Given the description of an element on the screen output the (x, y) to click on. 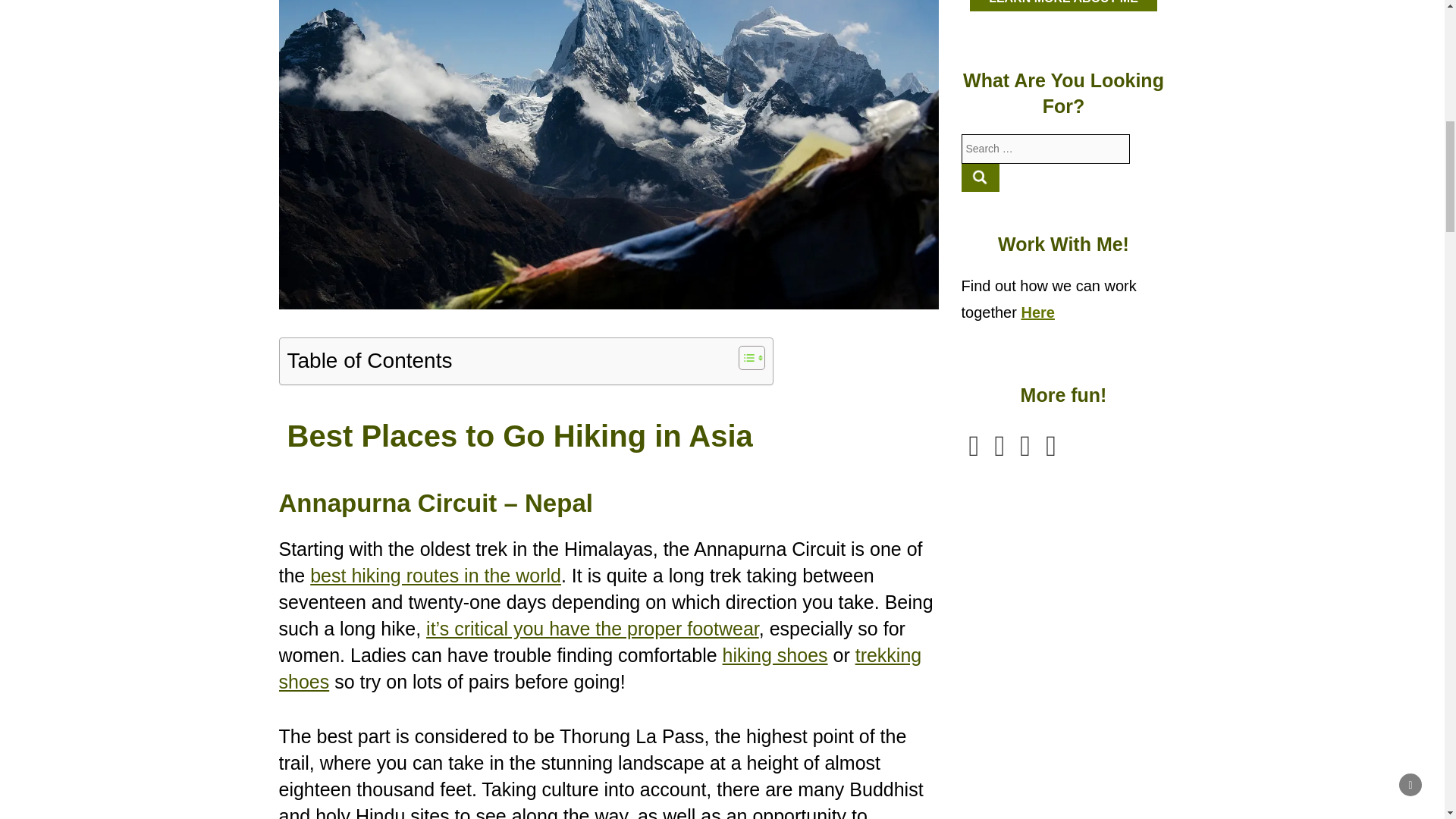
Search (980, 177)
Search for: (1045, 148)
Search (980, 177)
